Given the description of an element on the screen output the (x, y) to click on. 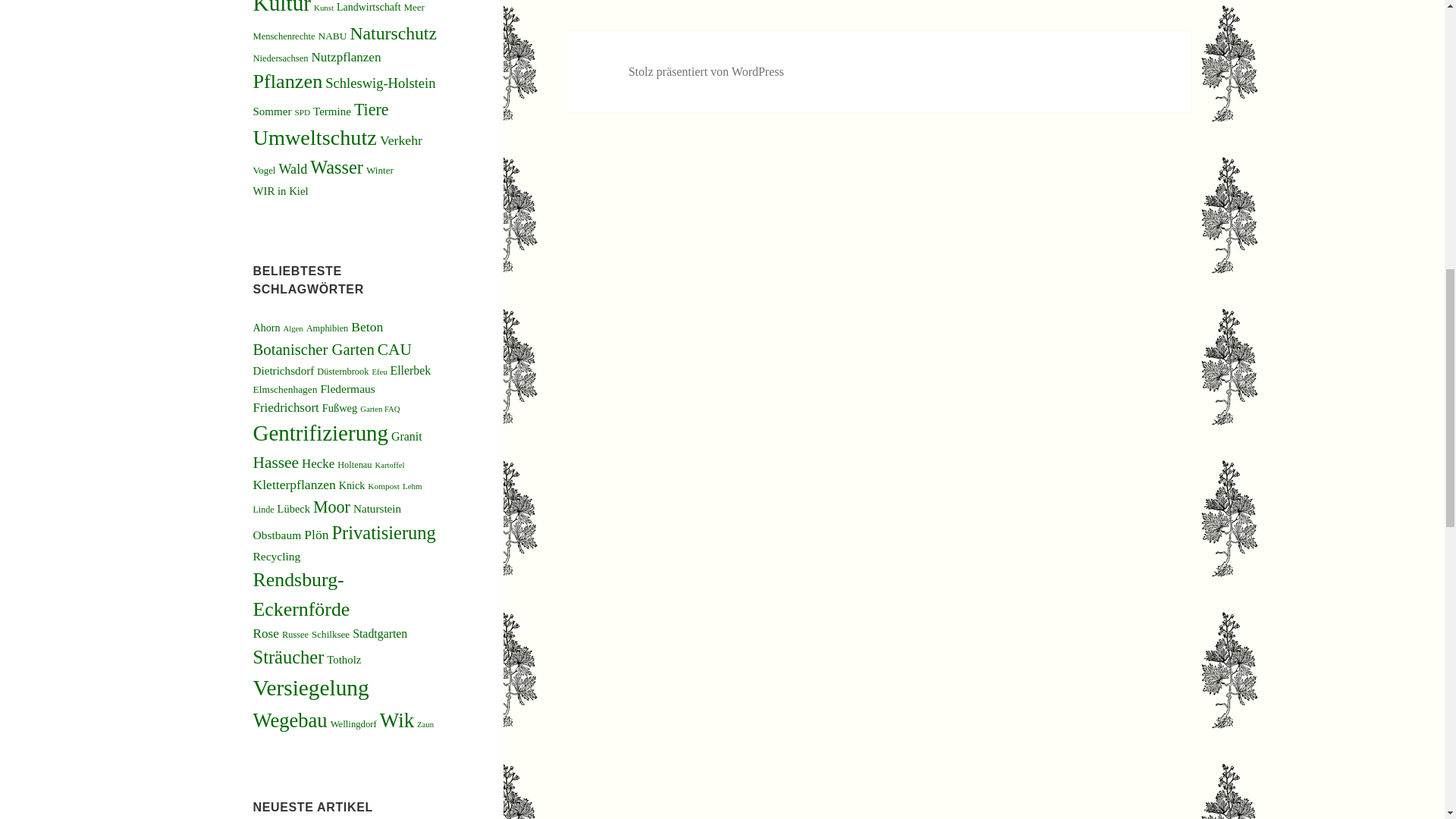
Menschenrechte (284, 36)
Kunst (323, 7)
Landwirtschaft (368, 7)
Naturschutz (392, 33)
Niedersachsen (280, 58)
NABU (332, 35)
Meer (414, 7)
Kultur (282, 7)
